Given the description of an element on the screen output the (x, y) to click on. 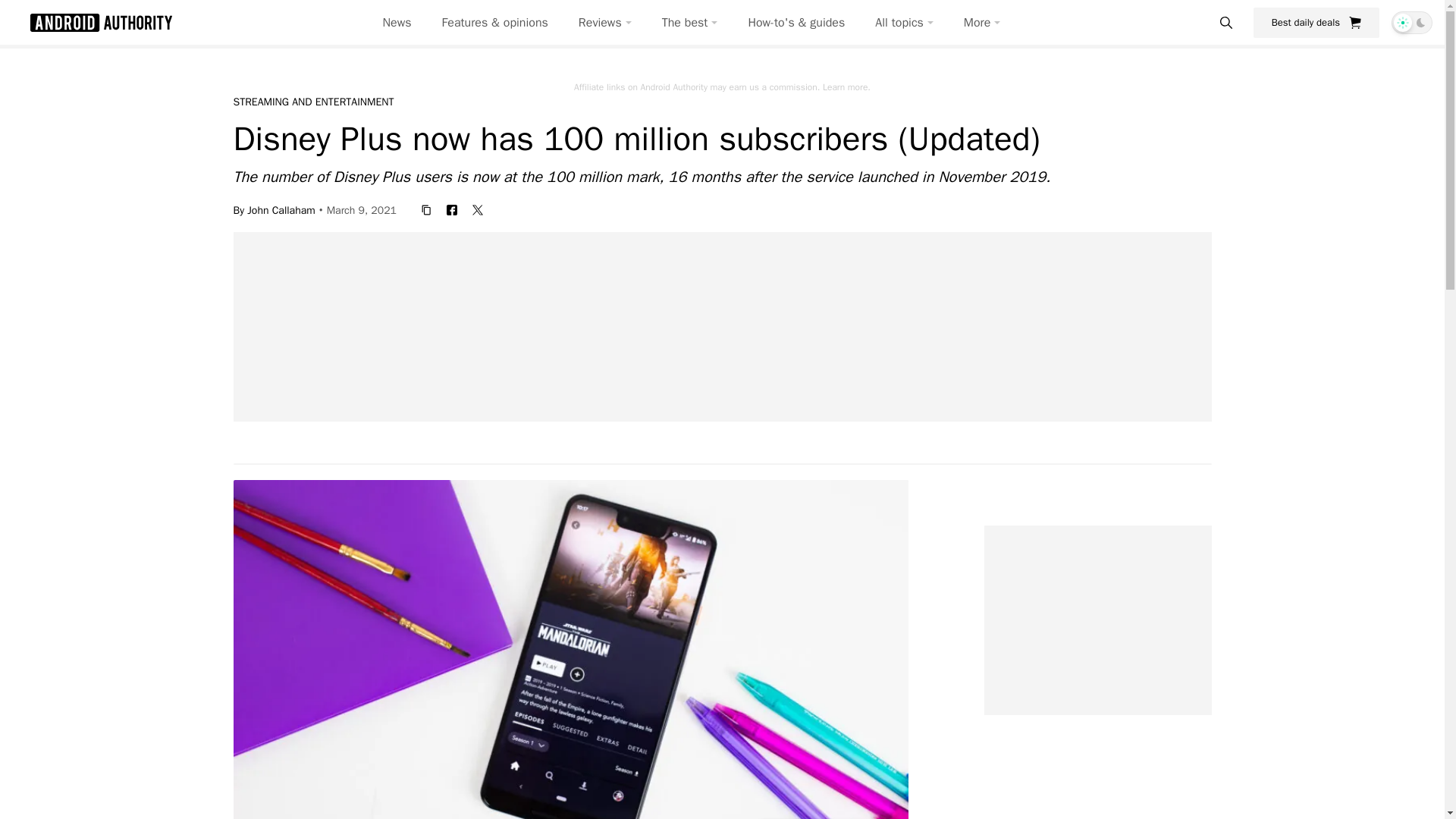
facebook (451, 209)
Reviews (604, 22)
All topics (904, 22)
The best (689, 22)
Learn more. (846, 86)
STREAMING AND ENTERTAINMENT (313, 101)
twitter (477, 209)
3rd party ad content (1097, 619)
John Callaham (280, 209)
Best daily deals (1315, 22)
